Given the description of an element on the screen output the (x, y) to click on. 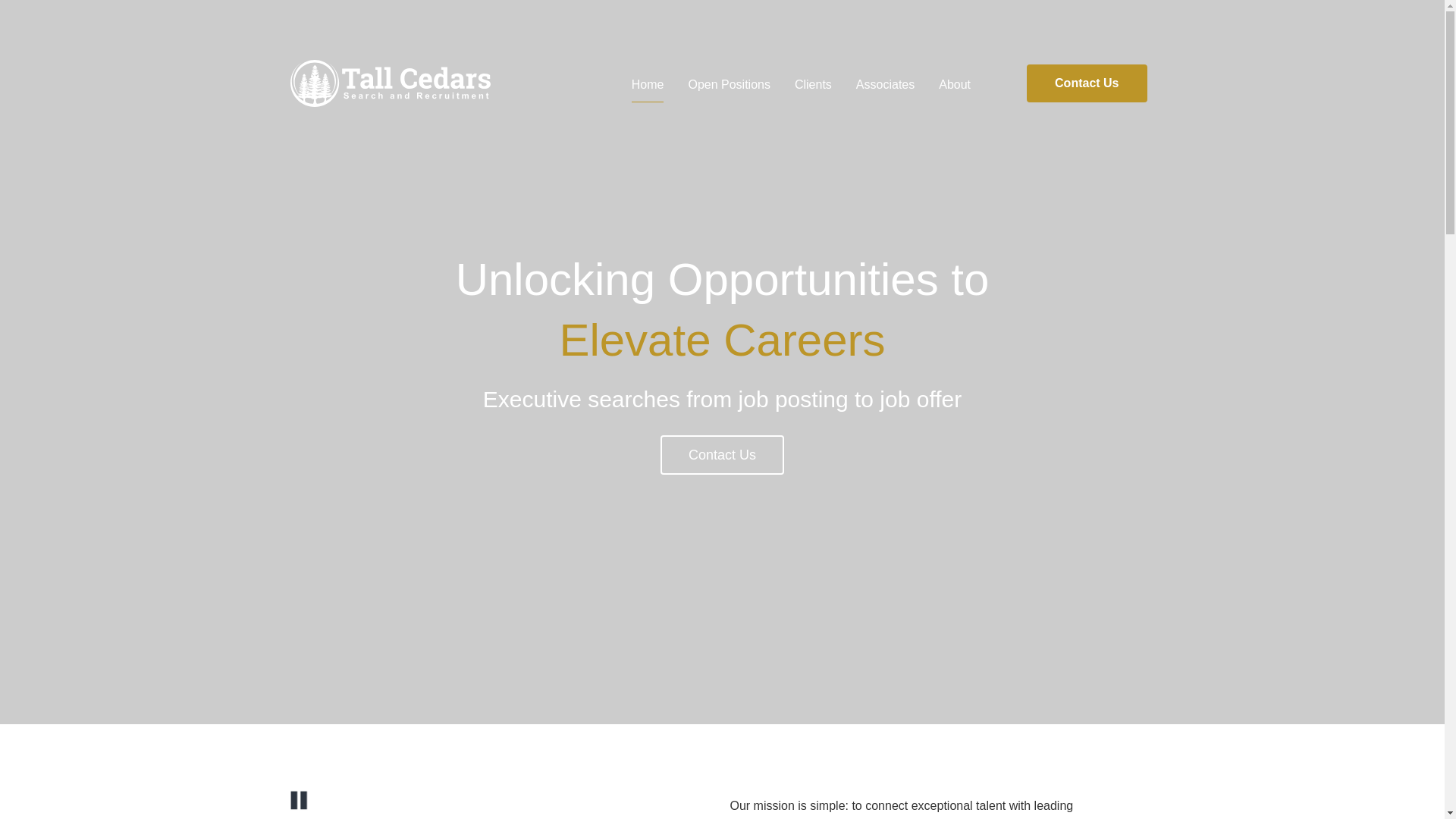
About (955, 84)
Clients (812, 84)
Open Positions (728, 84)
Home (647, 84)
Associates (885, 84)
Contact Us (1086, 83)
Contact Us (722, 454)
